Given the description of an element on the screen output the (x, y) to click on. 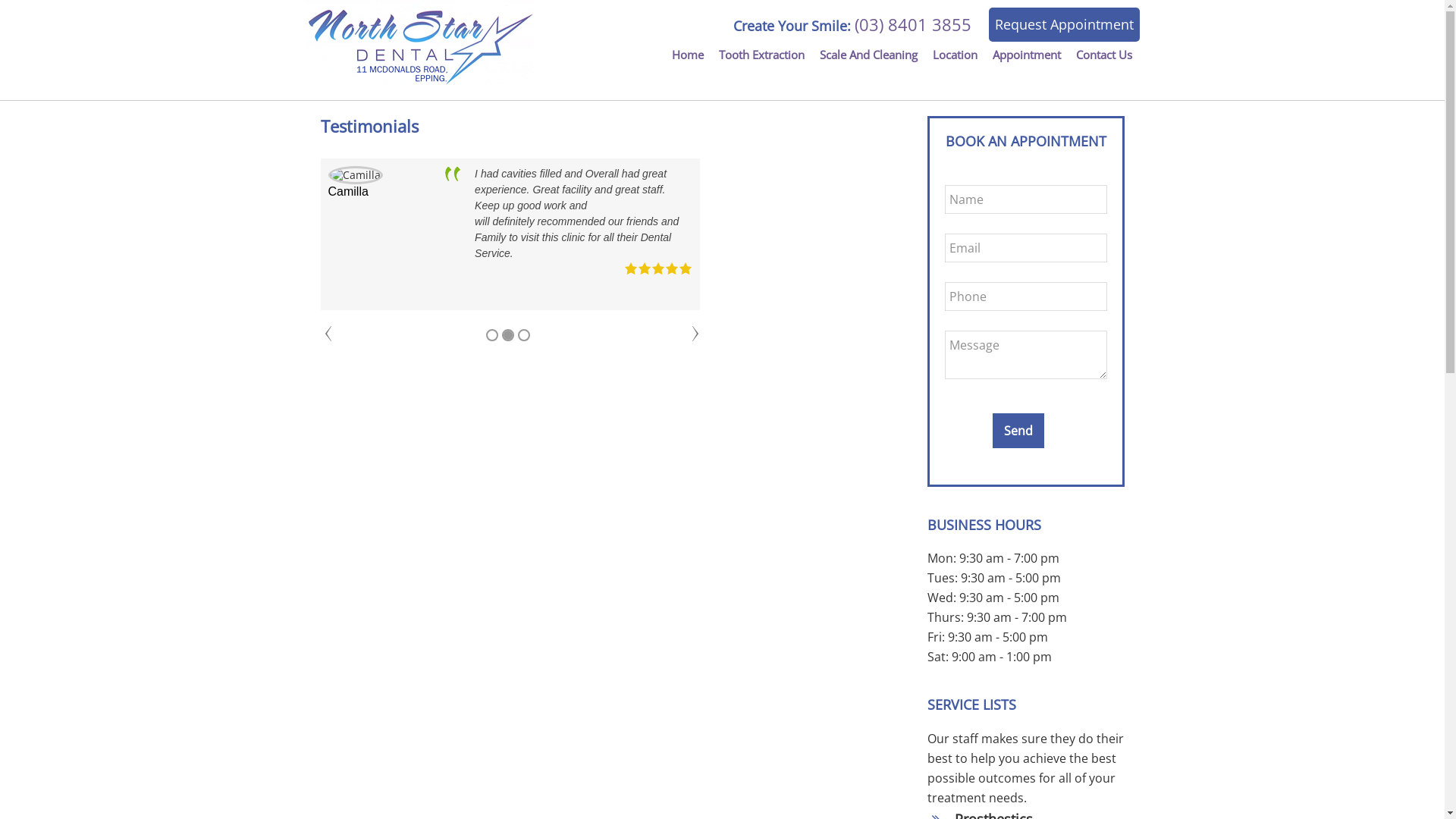
Send Element type: text (1017, 430)
(03) 8401 3855 Element type: text (911, 23)
Location Element type: text (955, 54)
Appointment Element type: text (1025, 54)
Home Element type: text (687, 54)
North Star dental Element type: text (418, 42)
Request Appointment Element type: text (1063, 24)
Contact Us Element type: text (1103, 54)
Scale And Cleaning Element type: text (867, 54)
Tooth Extraction Element type: text (761, 54)
Skip to content Element type: text (0, 0)
